Given the description of an element on the screen output the (x, y) to click on. 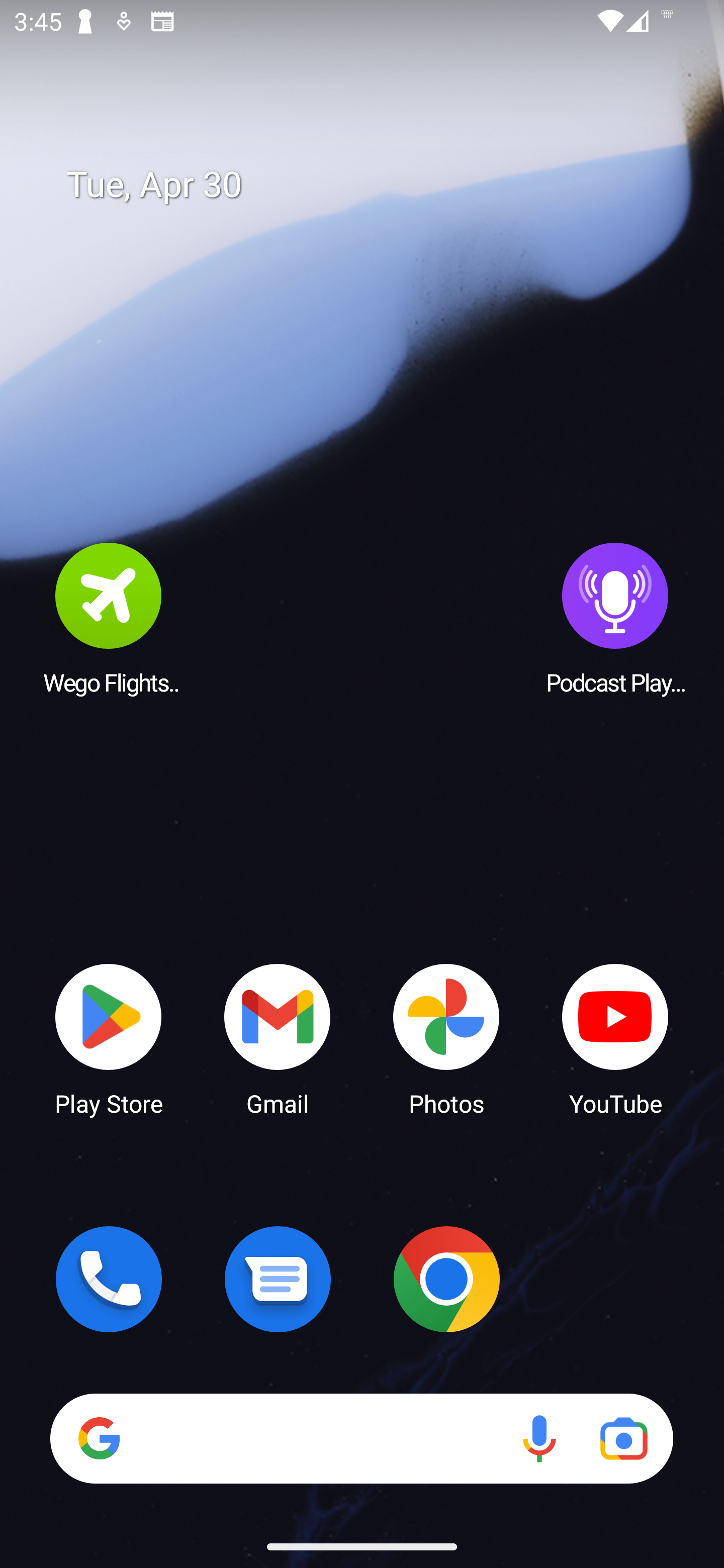
Tue, Apr 30 (375, 184)
Wego Flights & Hotels (108, 617)
Podcast Player (615, 617)
Play Store (108, 1038)
Gmail (277, 1038)
Photos (445, 1038)
YouTube (615, 1038)
Phone (108, 1279)
Messages (277, 1279)
Chrome (446, 1279)
Voice search (539, 1438)
Google Lens (623, 1438)
